Given the description of an element on the screen output the (x, y) to click on. 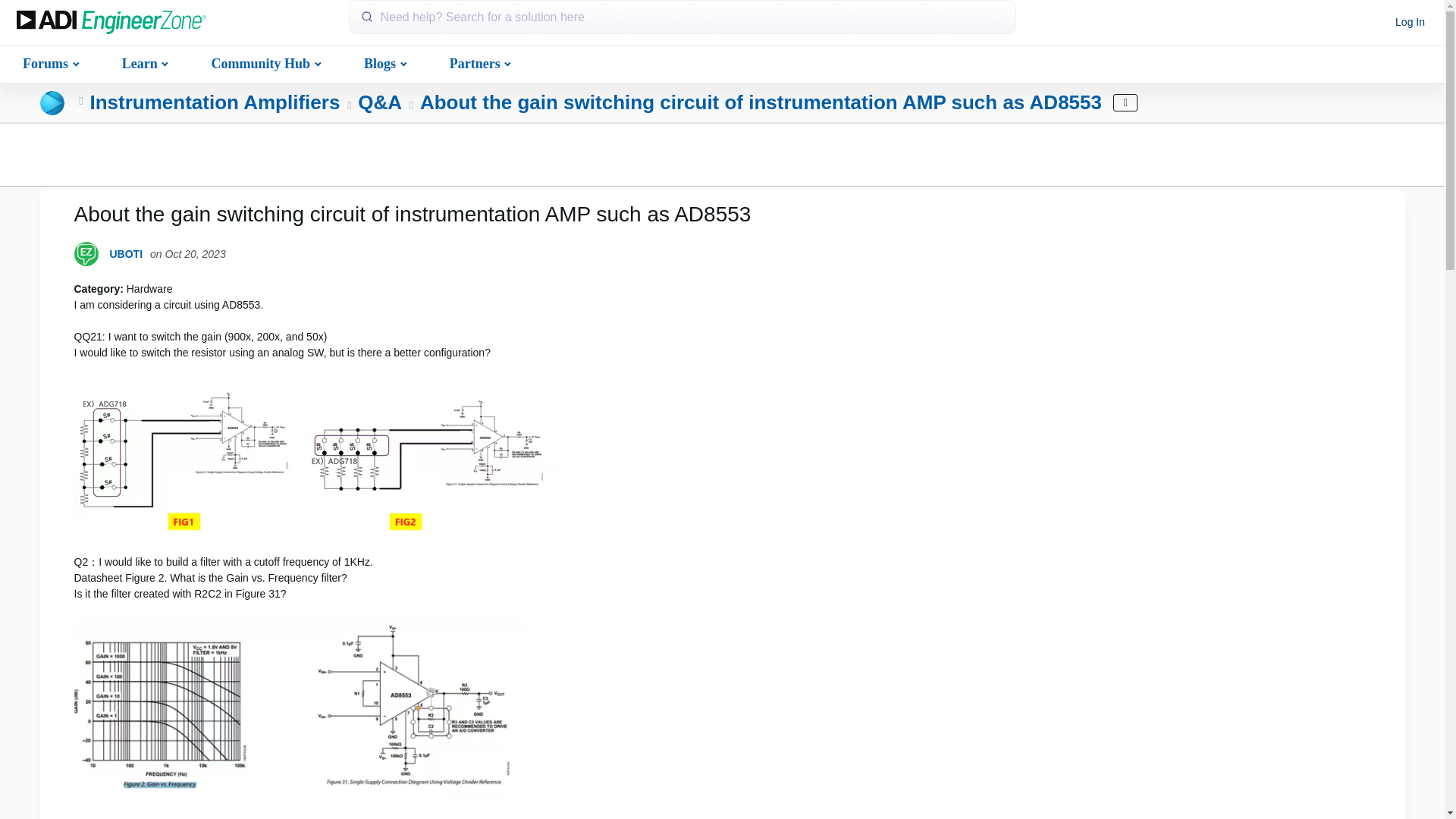
Forums (49, 62)
Log In (1409, 22)
Up to Amplifiers (81, 101)
Join or sign in (1409, 22)
Home (111, 22)
